Given the description of an element on the screen output the (x, y) to click on. 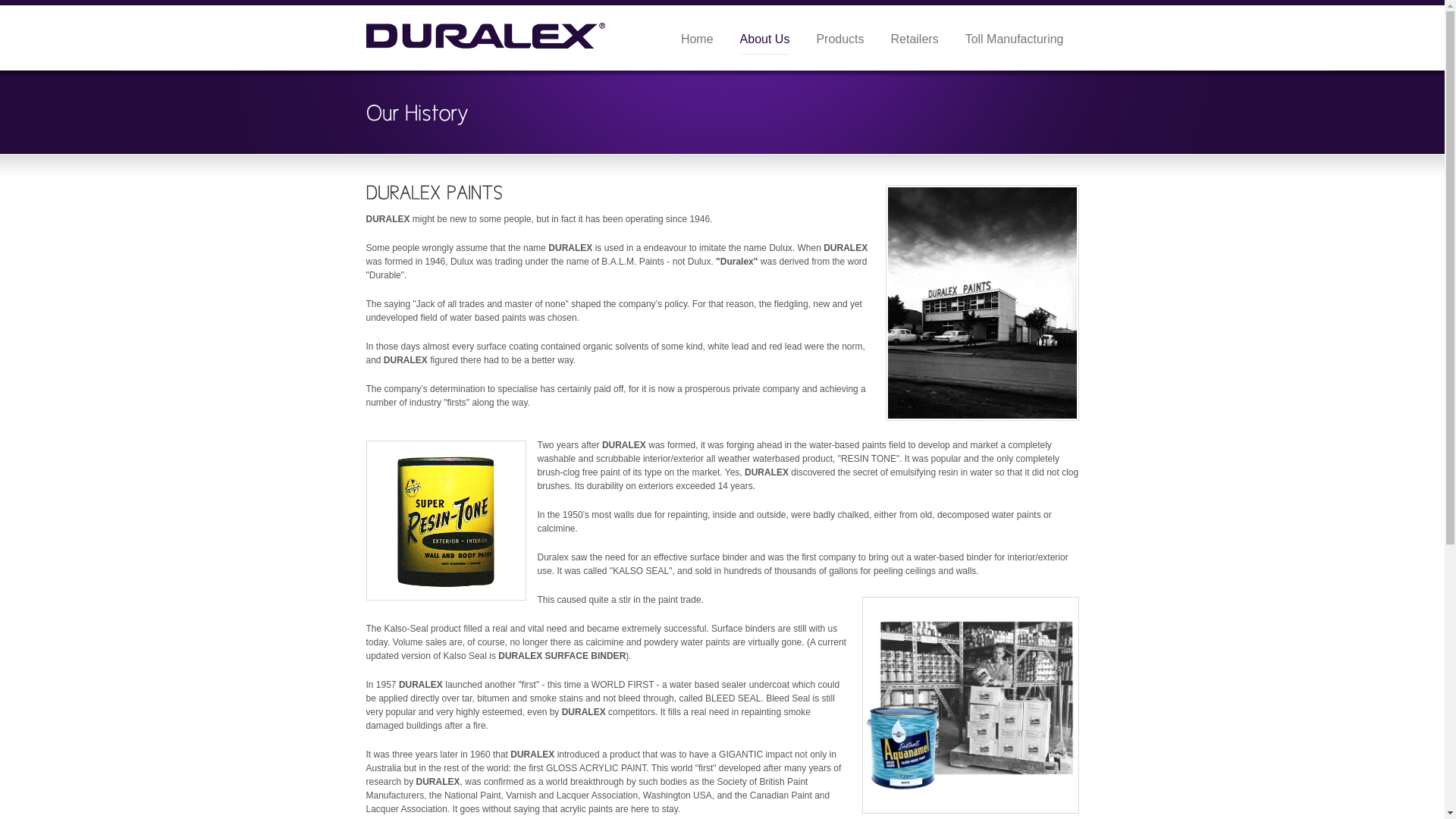
Home Element type: text (696, 39)
About Us Element type: text (765, 39)
Old Duralex Building Element type: hover (982, 302)
Toll Manufacturing Element type: text (1014, 39)
Aquanamel Element type: hover (969, 704)
Resin Tone Element type: hover (445, 520)
Products Element type: text (839, 39)
Retailers Element type: text (914, 39)
